Given the description of an element on the screen output the (x, y) to click on. 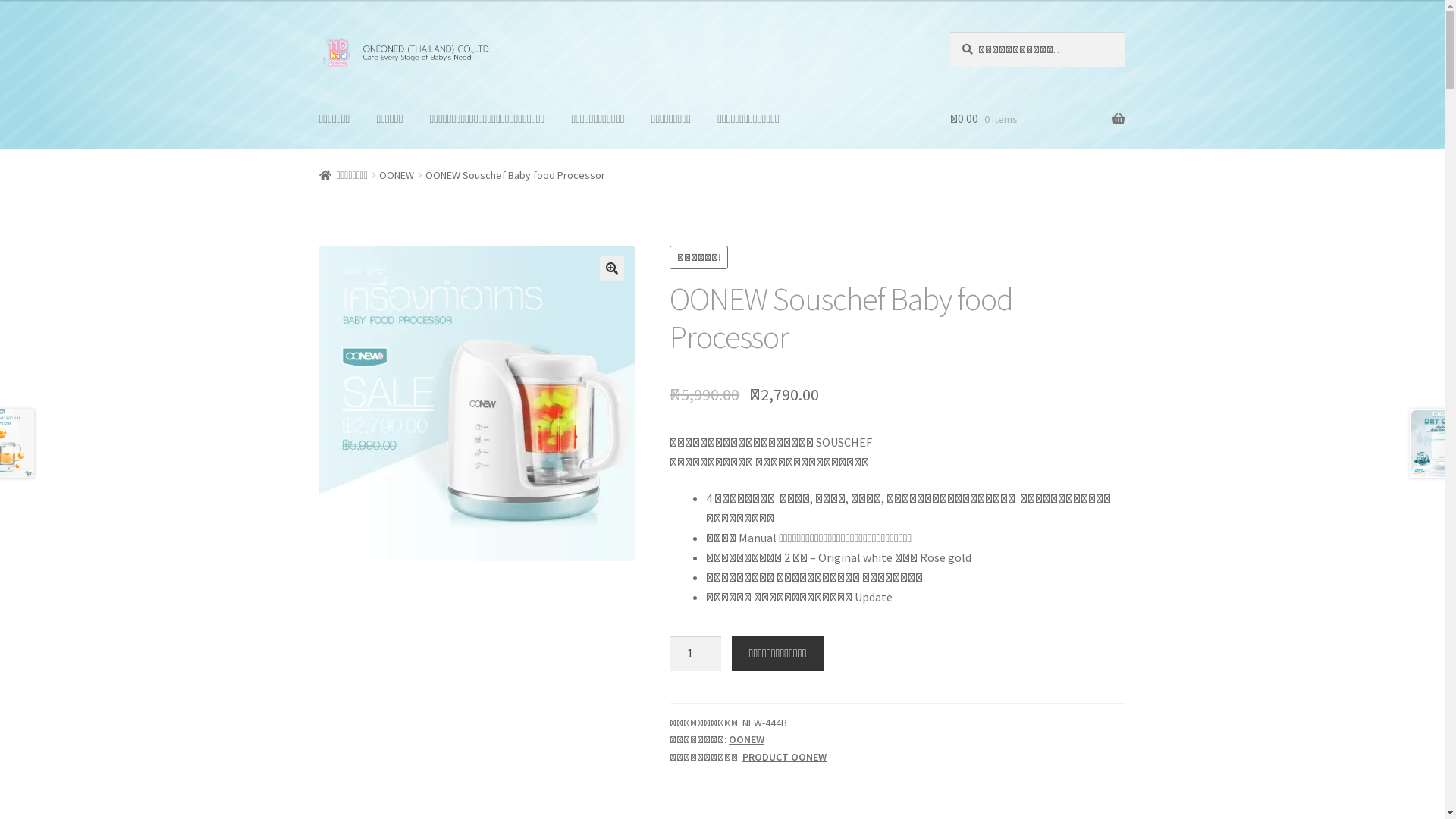
souschef Element type: hover (476, 403)
PRODUCT OONEW Element type: text (784, 756)
Skip to navigation Element type: text (318, 31)
OONEW Element type: text (396, 175)
OONEW Element type: text (746, 739)
